Given the description of an element on the screen output the (x, y) to click on. 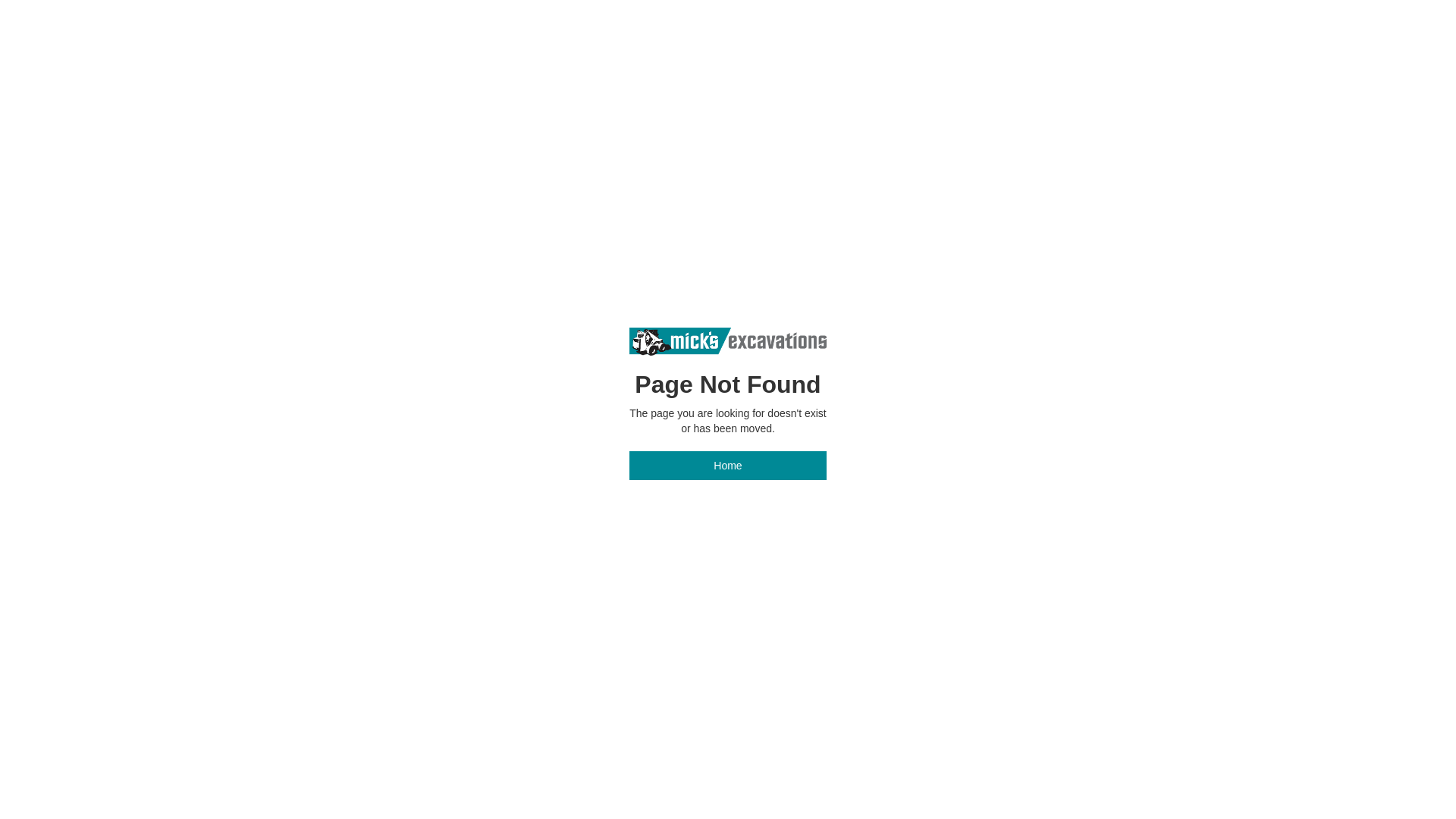
Home Element type: text (727, 465)
